Given the description of an element on the screen output the (x, y) to click on. 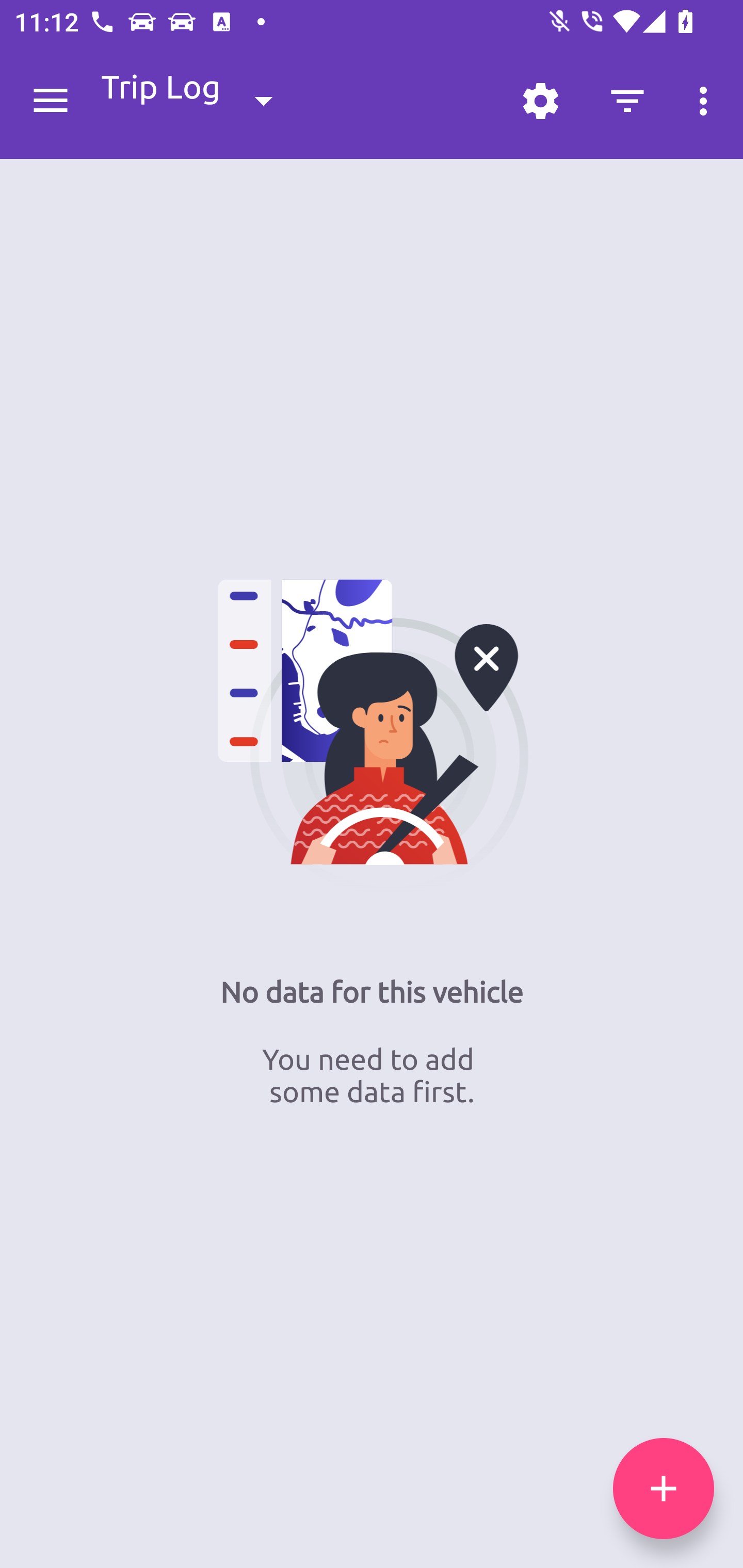
Fuelio (50, 101)
Settings (540, 101)
Filter (626, 101)
More options (706, 101)
Trip Log (203, 100)
